Given the description of an element on the screen output the (x, y) to click on. 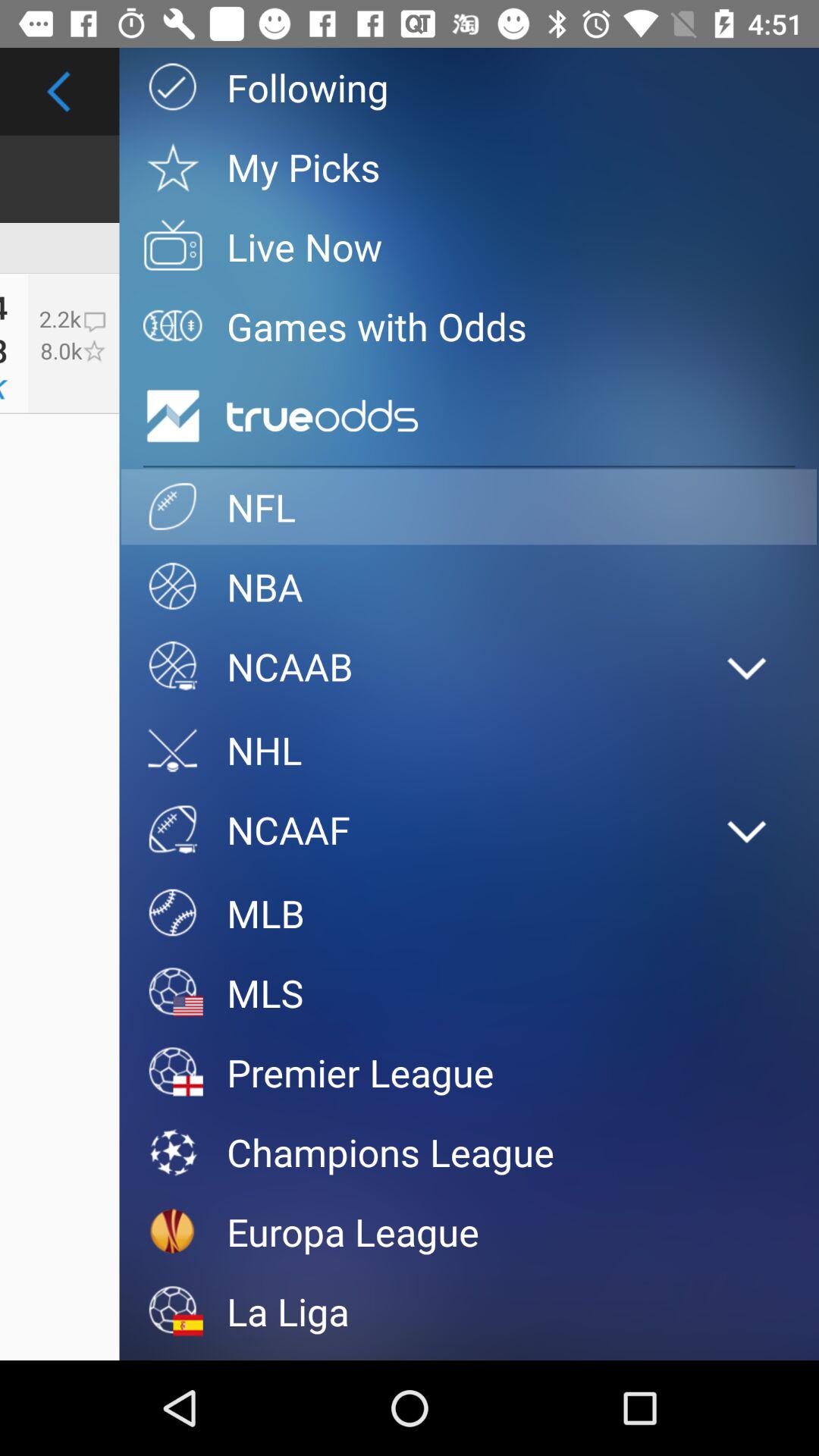
turn off the 28 item (3, 349)
